Given the description of an element on the screen output the (x, y) to click on. 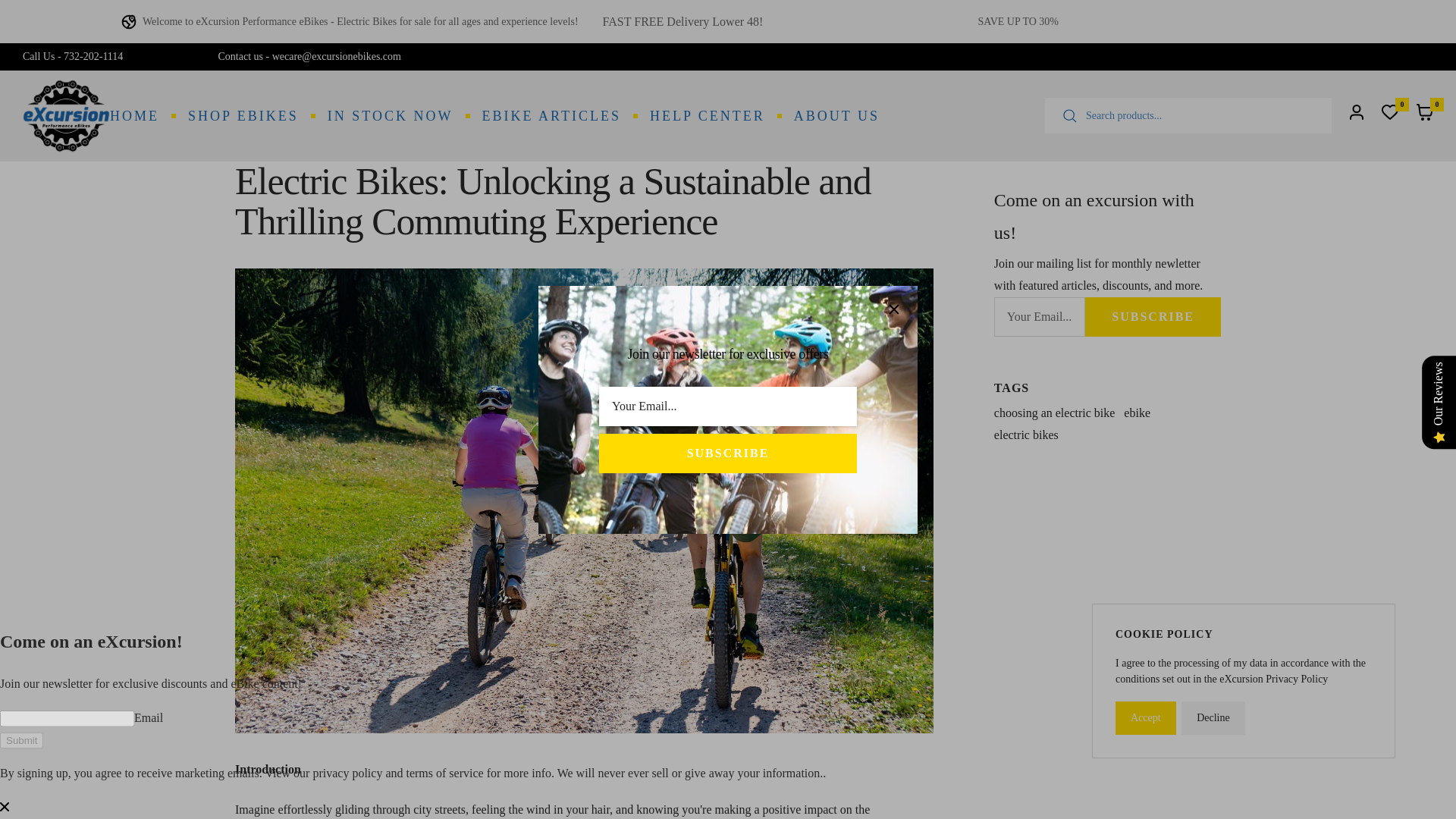
Show articles tagged choosing an electric bike (1054, 412)
ABOUT US (836, 115)
choosing an electric bike (1054, 412)
SHOP EBIKES (242, 115)
IN STOCK NOW (389, 115)
electric bikes (1026, 434)
EBIKE ARTICLES (551, 115)
SUBSCRIBE (1152, 316)
HELP CENTER (707, 115)
ebike (1137, 412)
Show articles tagged electric bikes (1026, 434)
Close (893, 308)
Show articles tagged ebike (1137, 412)
eXcursion Performance eBikes LLC (66, 115)
